Given the description of an element on the screen output the (x, y) to click on. 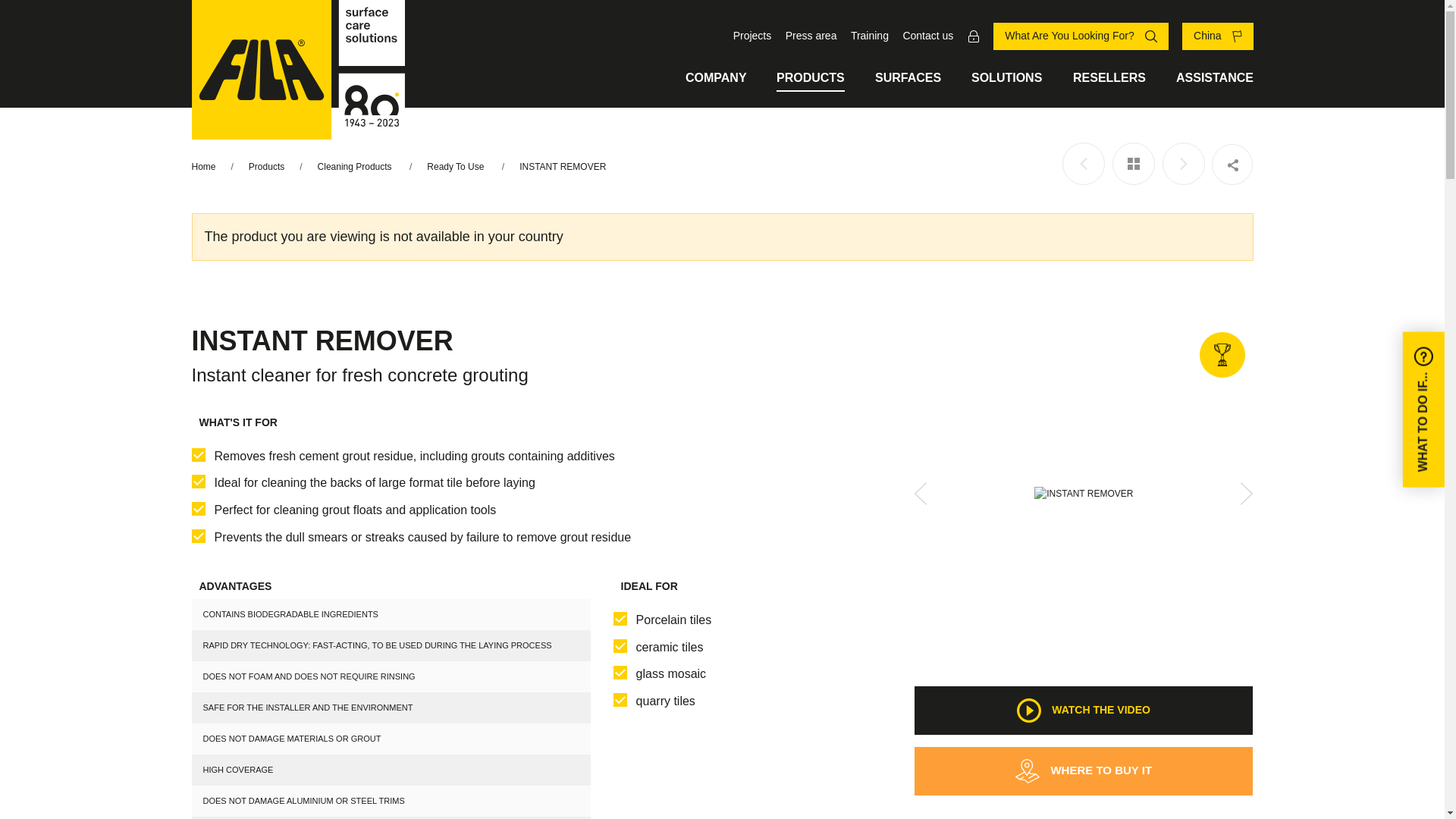
Fila Industria Chimica S.p.A. (297, 69)
PRODUCTS (810, 78)
SURFACES (907, 78)
COMPANY (715, 78)
